Given the description of an element on the screen output the (x, y) to click on. 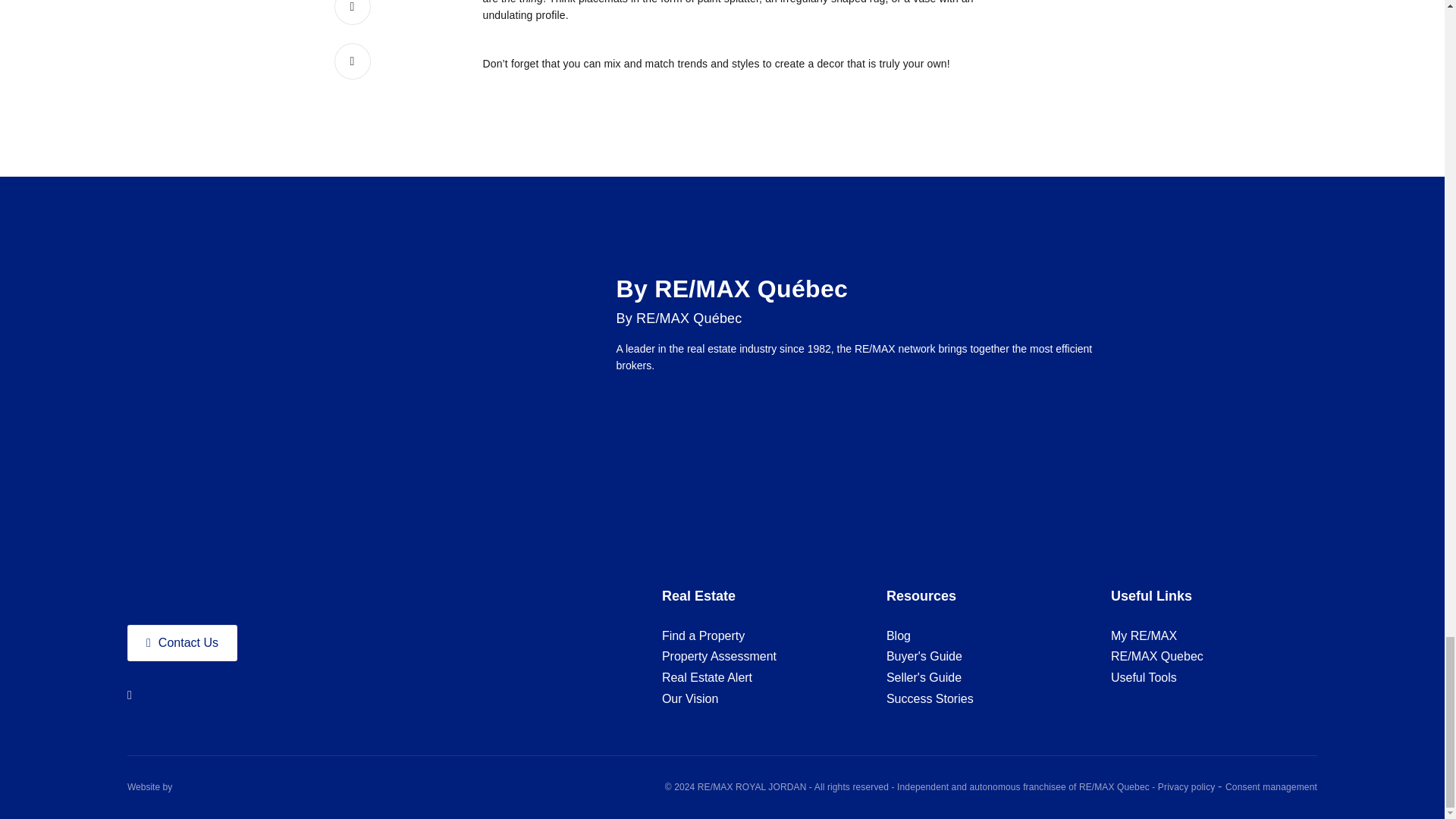
Find a Property (703, 635)
Success Stories (930, 698)
Property Assessment (719, 656)
Website by (149, 786)
Our Vision (689, 698)
Buyer's Guide (924, 656)
Consent management (1271, 787)
Contact Us (182, 642)
Seller's Guide (923, 677)
Useful Tools (1143, 677)
Real Estate Alert (707, 677)
Privacy policy (1187, 787)
Blog (898, 635)
